Given the description of an element on the screen output the (x, y) to click on. 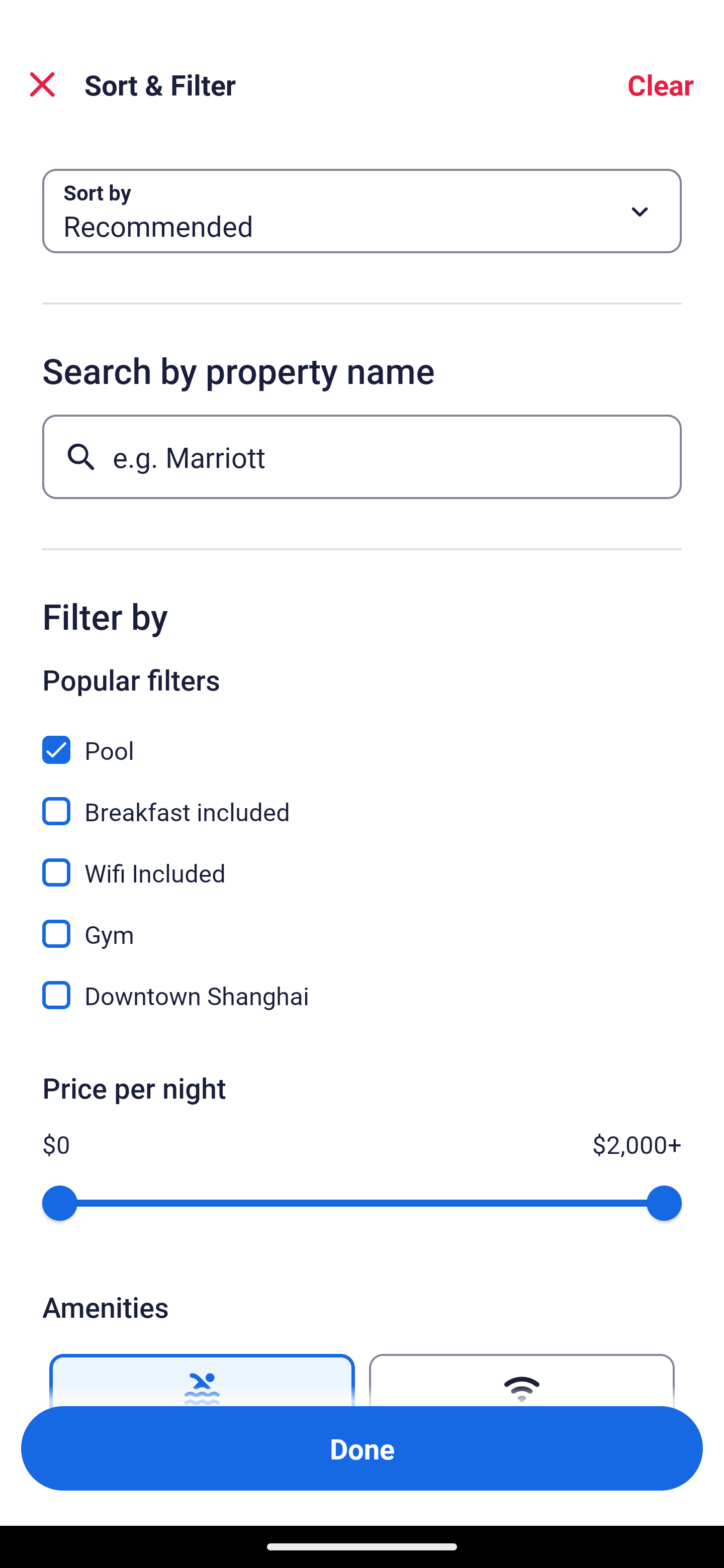
Close Sort and Filter (42, 84)
Clear (660, 84)
Sort by Button Recommended (361, 211)
e.g. Marriott Button (361, 455)
Pool, Pool (361, 738)
Breakfast included, Breakfast included (361, 800)
Wifi Included, Wifi Included (361, 861)
Gym, Gym (361, 922)
Downtown Shanghai, Downtown Shanghai (361, 995)
Apply and close Sort and Filter Done (361, 1448)
